Given the description of an element on the screen output the (x, y) to click on. 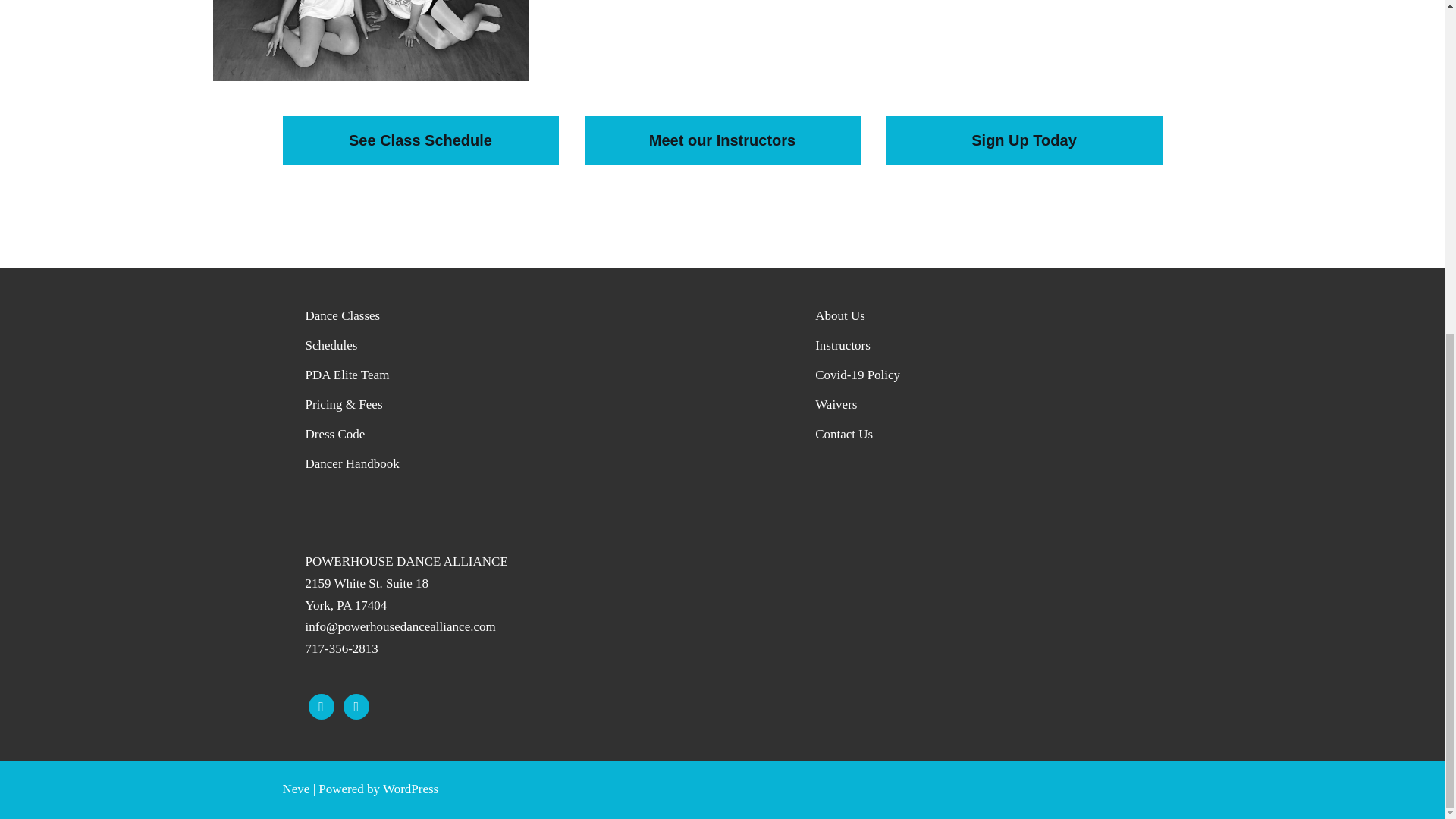
Dancer Handbook (351, 463)
Dance Classes (342, 315)
See Class Schedule (419, 140)
Instagram (356, 705)
PDA Elite Team (346, 374)
Dress Code (334, 433)
Facebook (320, 705)
Sign Up Today (1023, 140)
Meet our Instructors (721, 140)
Schedules (330, 345)
